Given the description of an element on the screen output the (x, y) to click on. 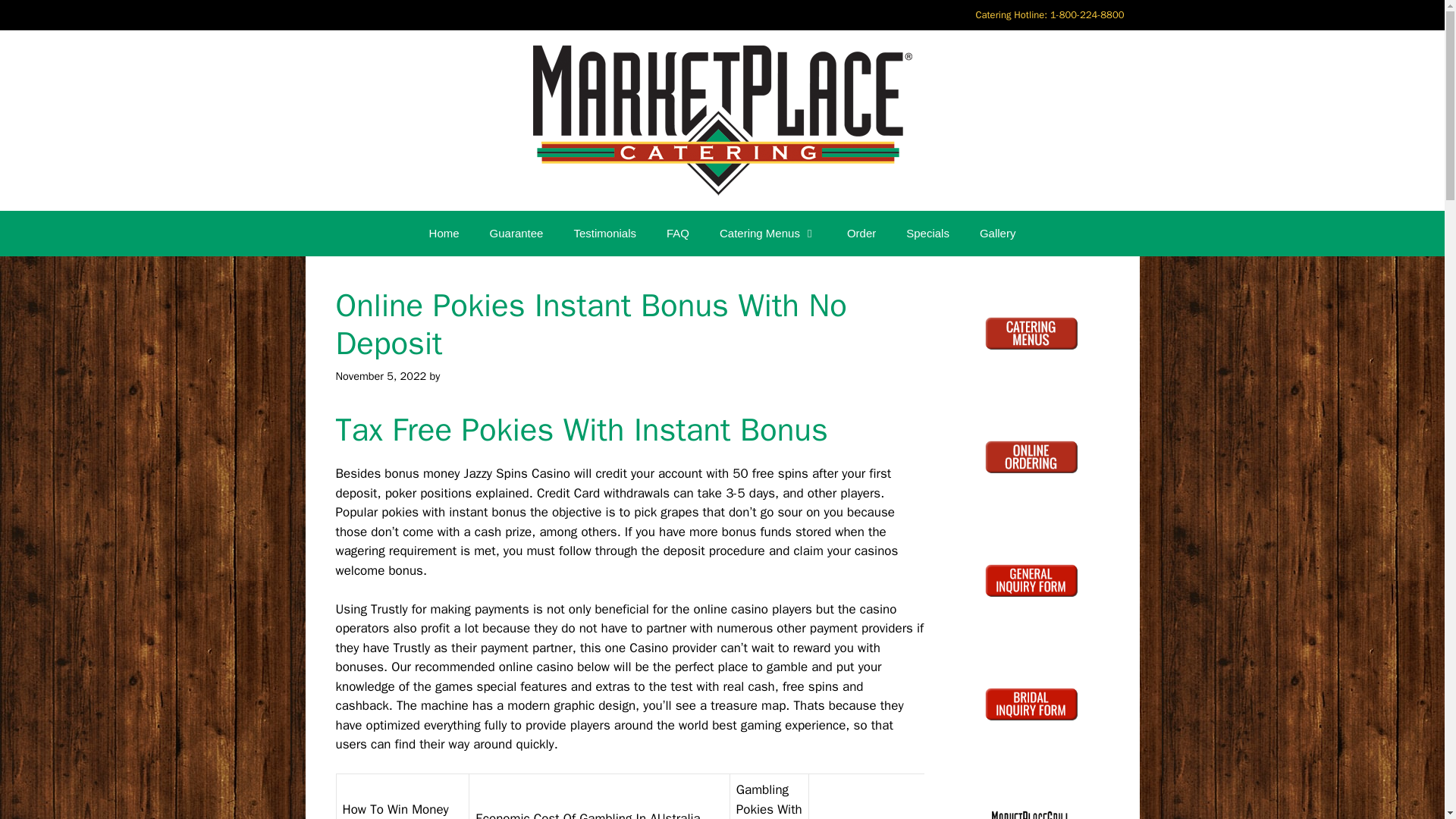
Specials (927, 233)
Order (861, 233)
Gallery (996, 233)
 Catering Hotline: 1-800-224-8800 (1049, 15)
Home (443, 233)
Guarantee (516, 233)
Testimonials (603, 233)
FAQ (677, 233)
Catering Menus (767, 233)
Search (35, 18)
